Given the description of an element on the screen output the (x, y) to click on. 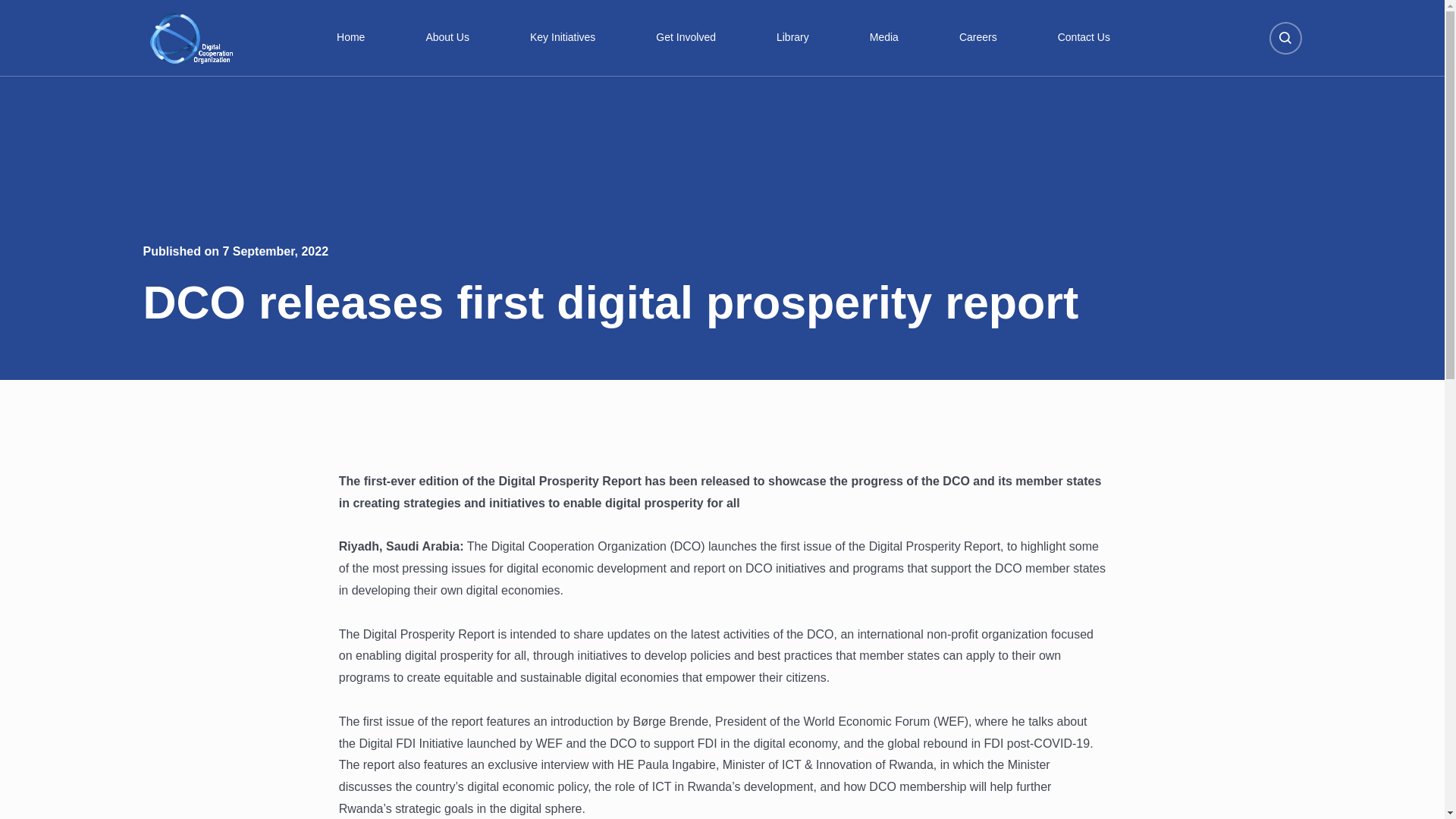
Contact Us (1083, 38)
Key Initiatives (562, 38)
About Us (446, 38)
Media (884, 38)
Home (349, 38)
Library (792, 38)
Get Involved (685, 38)
Careers (977, 38)
